Given the description of an element on the screen output the (x, y) to click on. 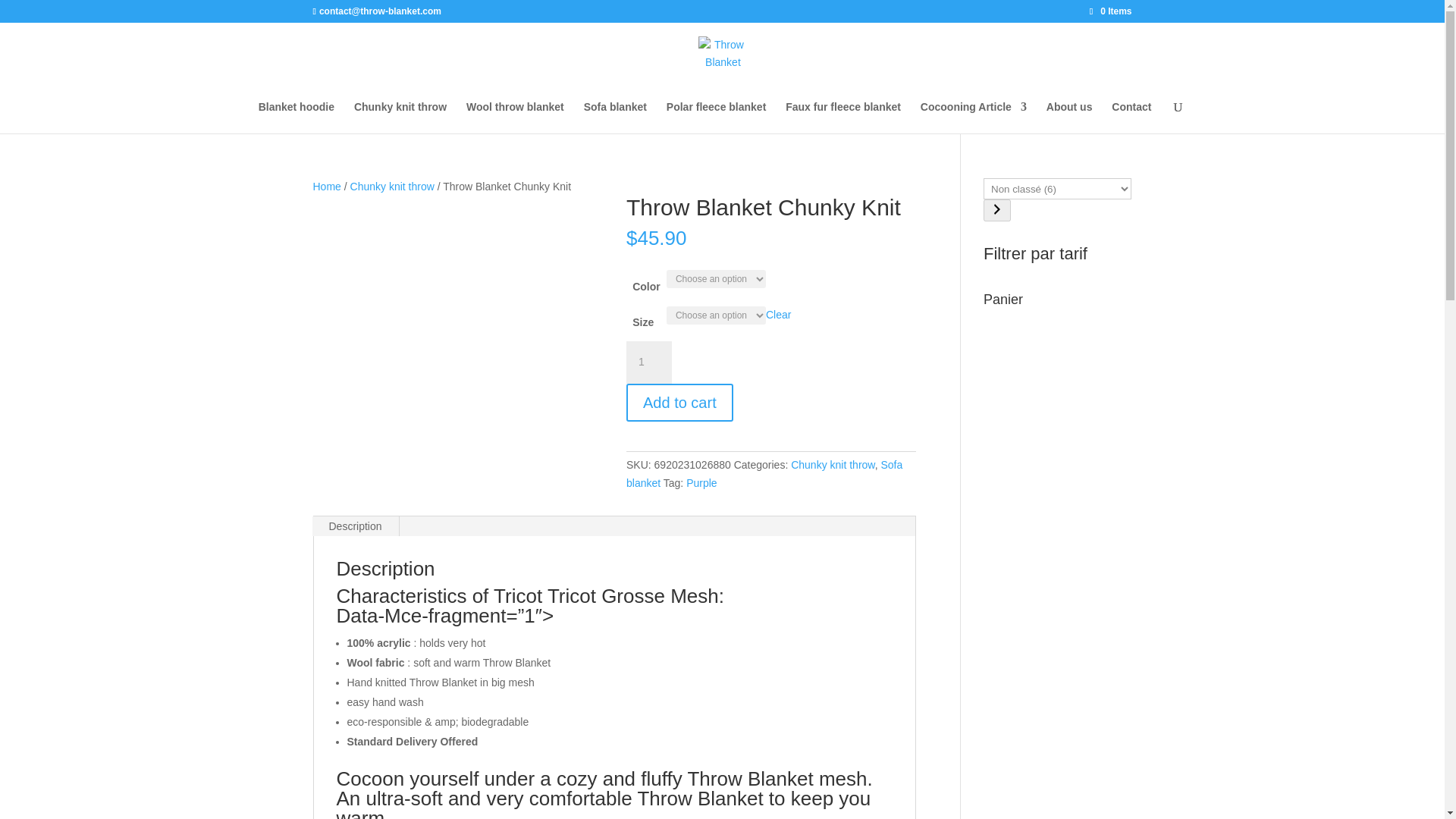
Chunky knit throw (832, 464)
0 Items (1110, 10)
Home (326, 186)
Add to cart (679, 402)
Polar fleece blanket (716, 117)
Purple (700, 482)
Chunky knit throw (399, 117)
About us (1069, 117)
Chunky knit throw (391, 186)
Cocooning Article (973, 117)
Description (355, 525)
Contact (1131, 117)
Blanket hoodie (296, 117)
Sofa blanket (764, 473)
Faux fur fleece blanket (843, 117)
